Given the description of an element on the screen output the (x, y) to click on. 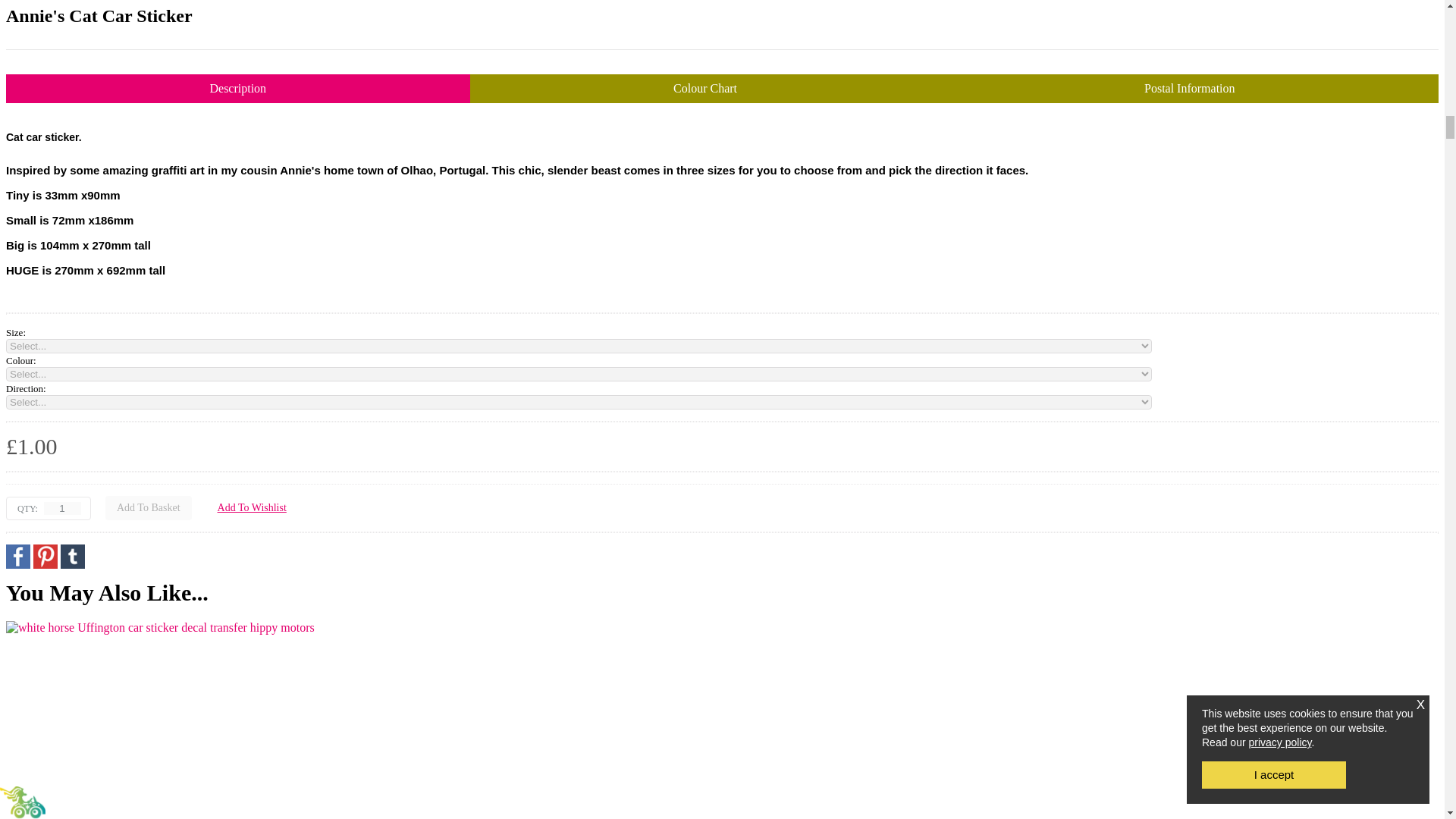
1 (62, 508)
